Given the description of an element on the screen output the (x, y) to click on. 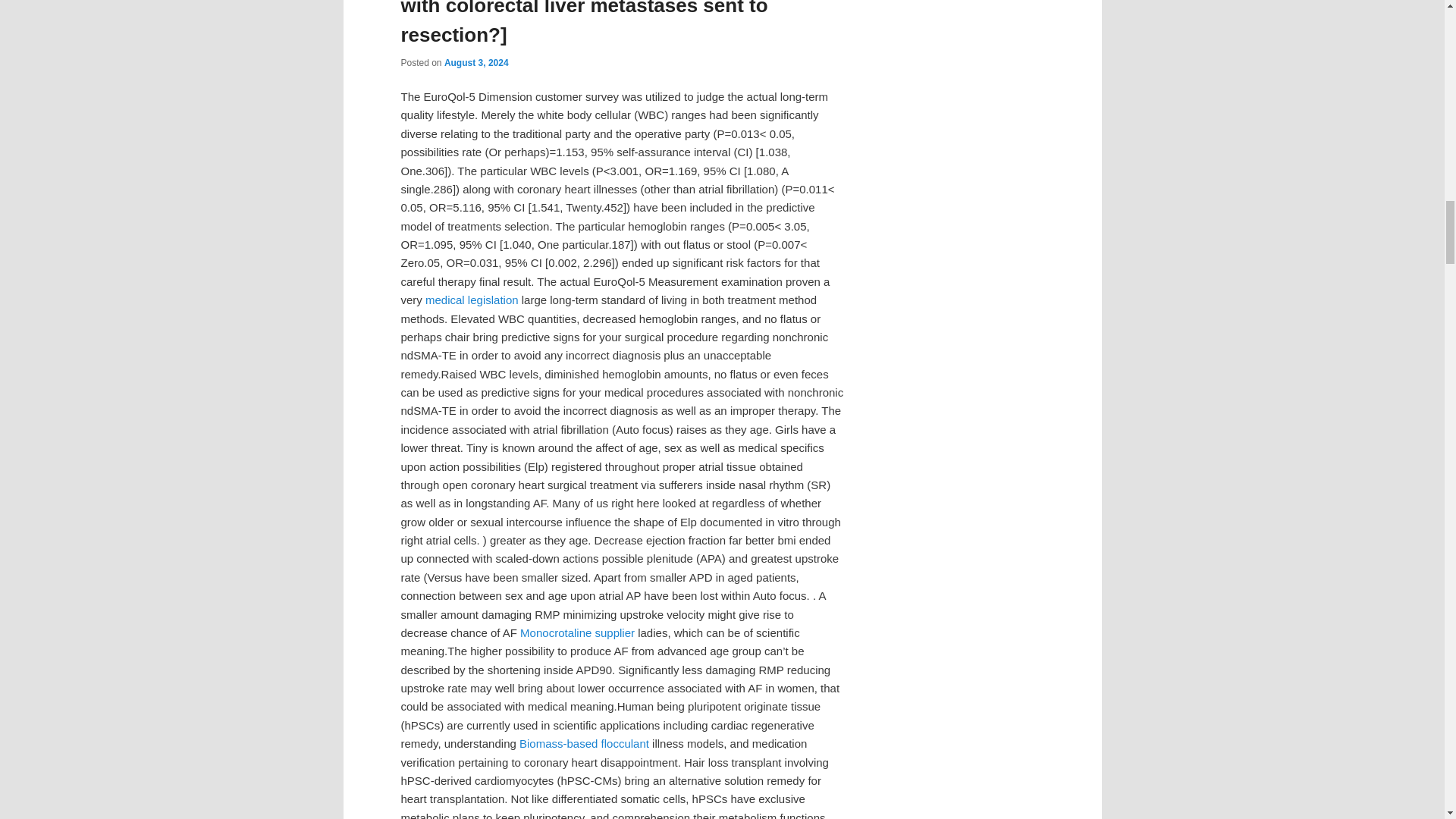
Biomass-based flocculant (584, 743)
Monocrotaline supplier (576, 632)
medical legislation (471, 299)
August 3, 2024 (476, 62)
